Given the description of an element on the screen output the (x, y) to click on. 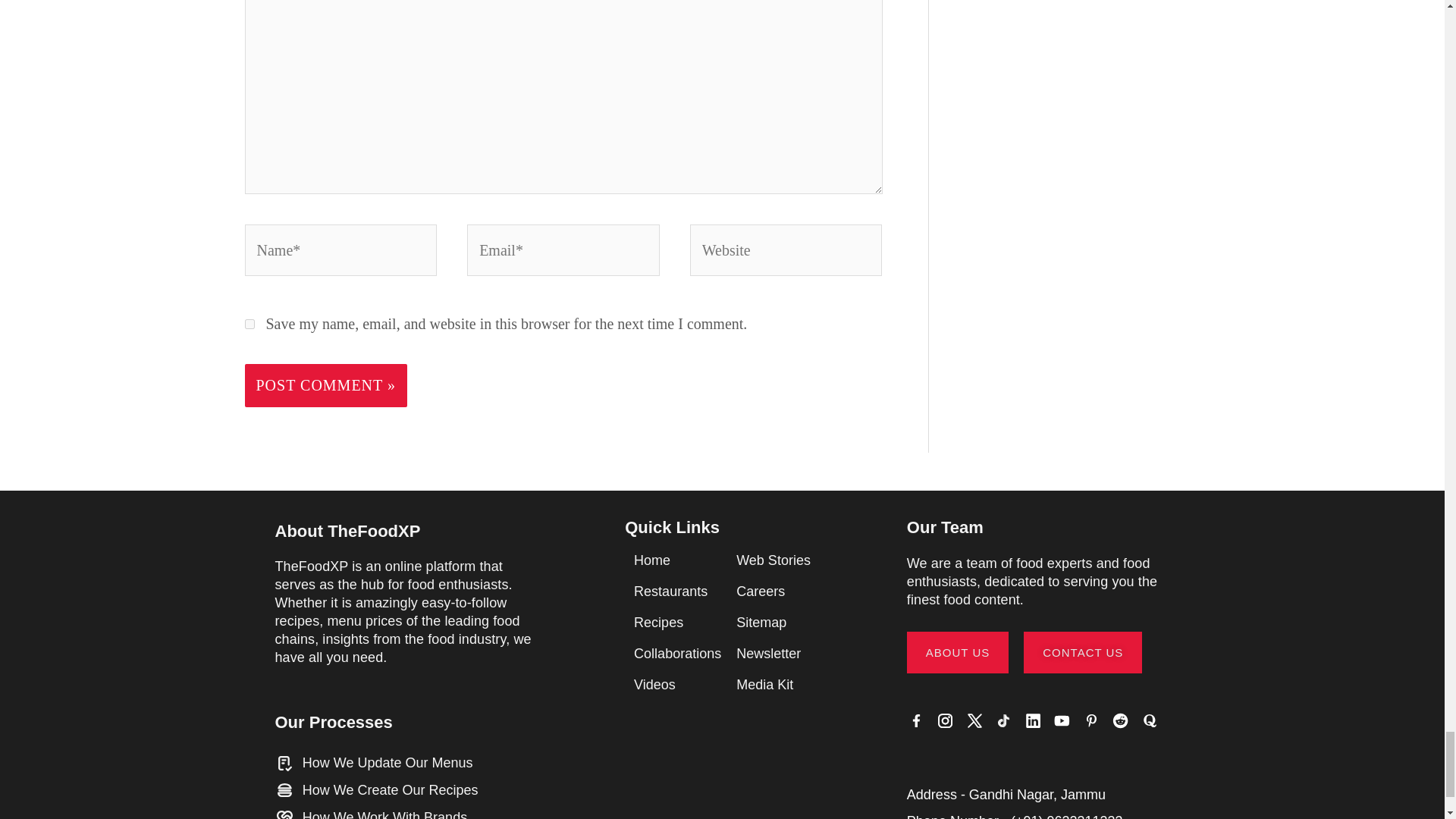
yes (248, 324)
